Given the description of an element on the screen output the (x, y) to click on. 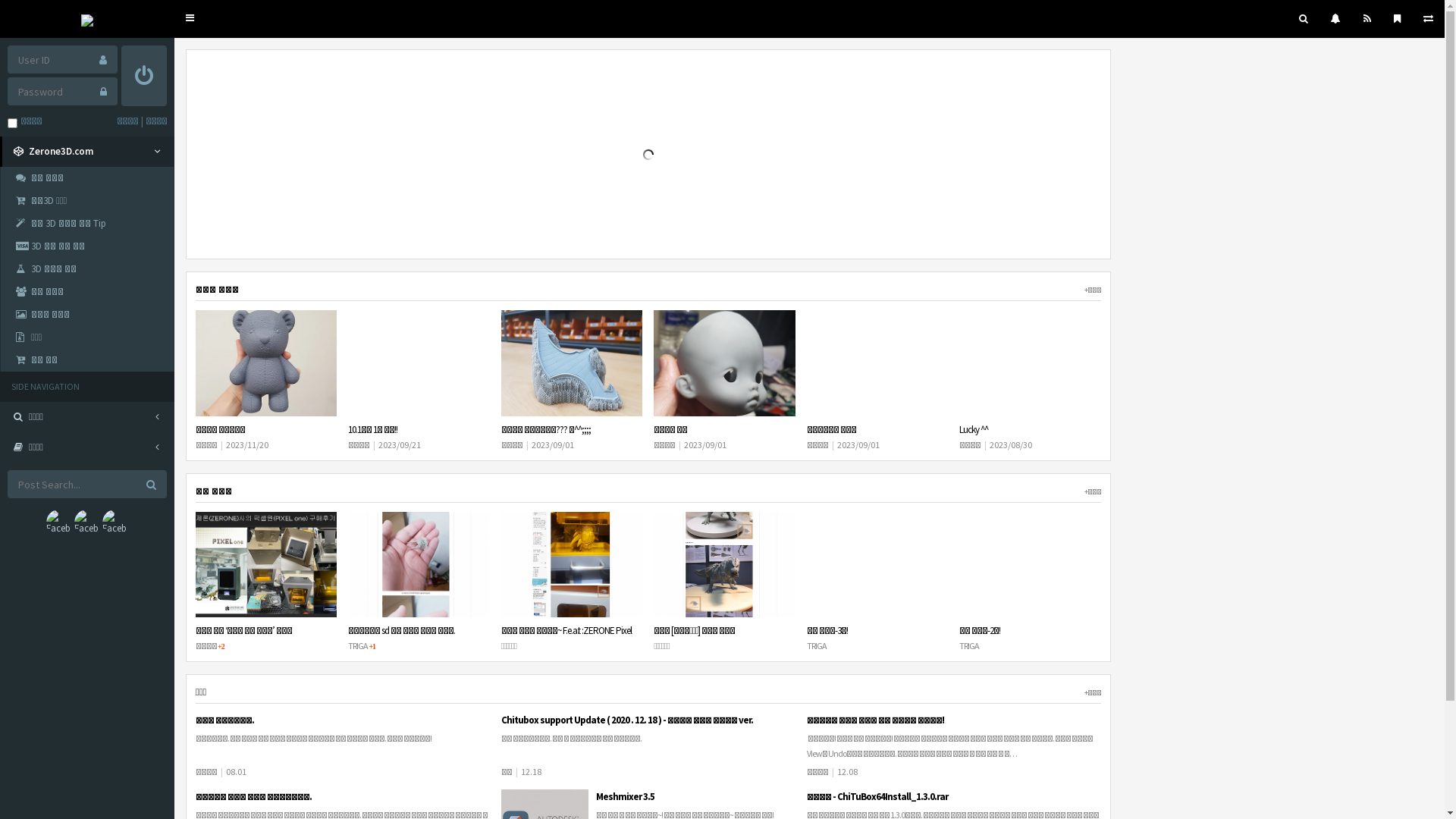
0 Element type: text (1335, 18)
Toggle navigation Element type: text (189, 18)
Zerone3D.com Element type: text (87, 151)
Lucky ^^ Element type: text (973, 429)
